Given the description of an element on the screen output the (x, y) to click on. 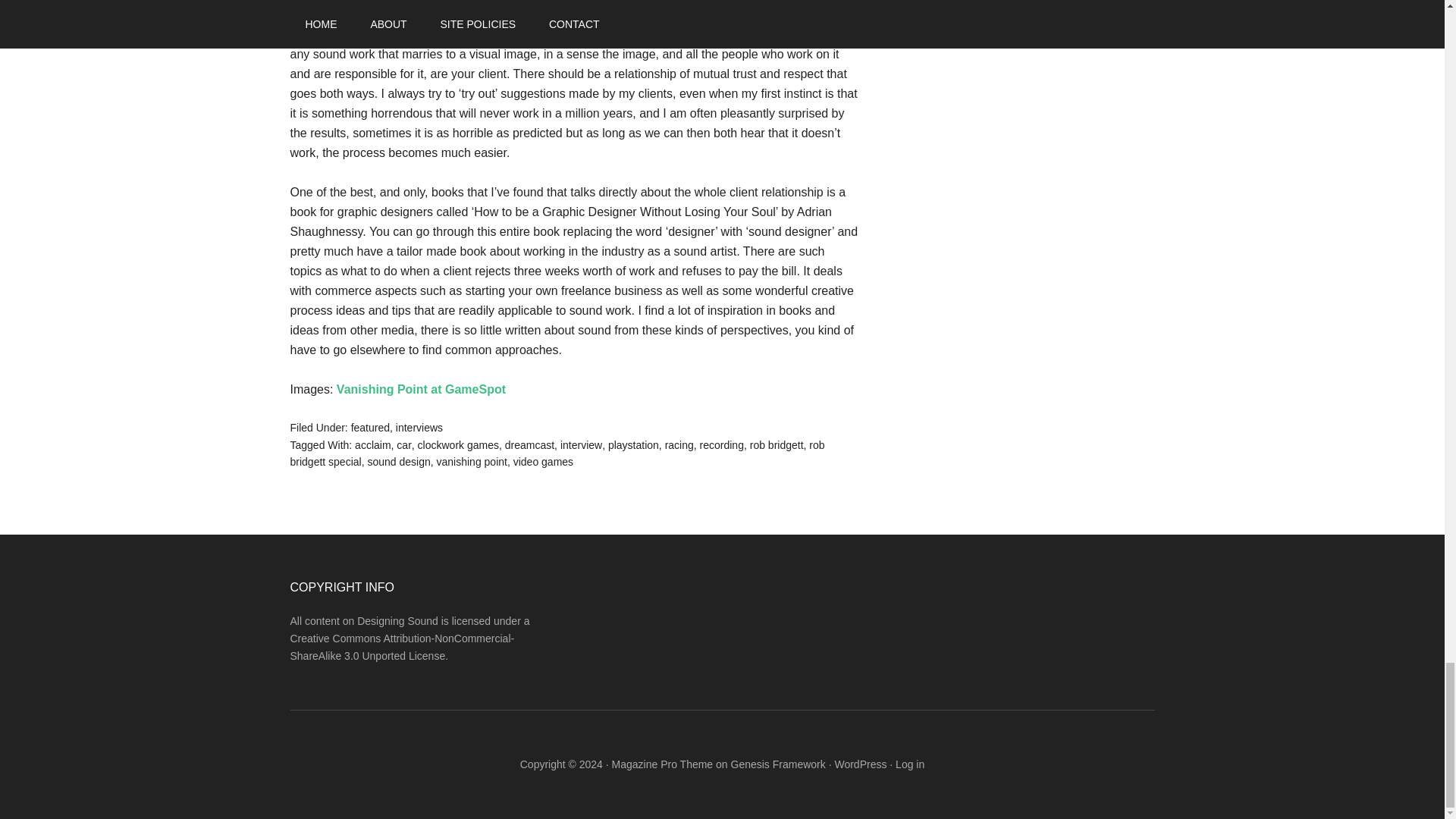
clockwork games (458, 444)
rob bridgett special (556, 453)
playstation (633, 444)
vanishing point (471, 461)
car (403, 444)
racing (679, 444)
acclaim (372, 444)
rob bridgett (776, 444)
featured (370, 427)
dreamcast (529, 444)
interview (581, 444)
recording (722, 444)
interviews (419, 427)
sound design (397, 461)
Vanishing Point at GameSpot (420, 389)
